Given the description of an element on the screen output the (x, y) to click on. 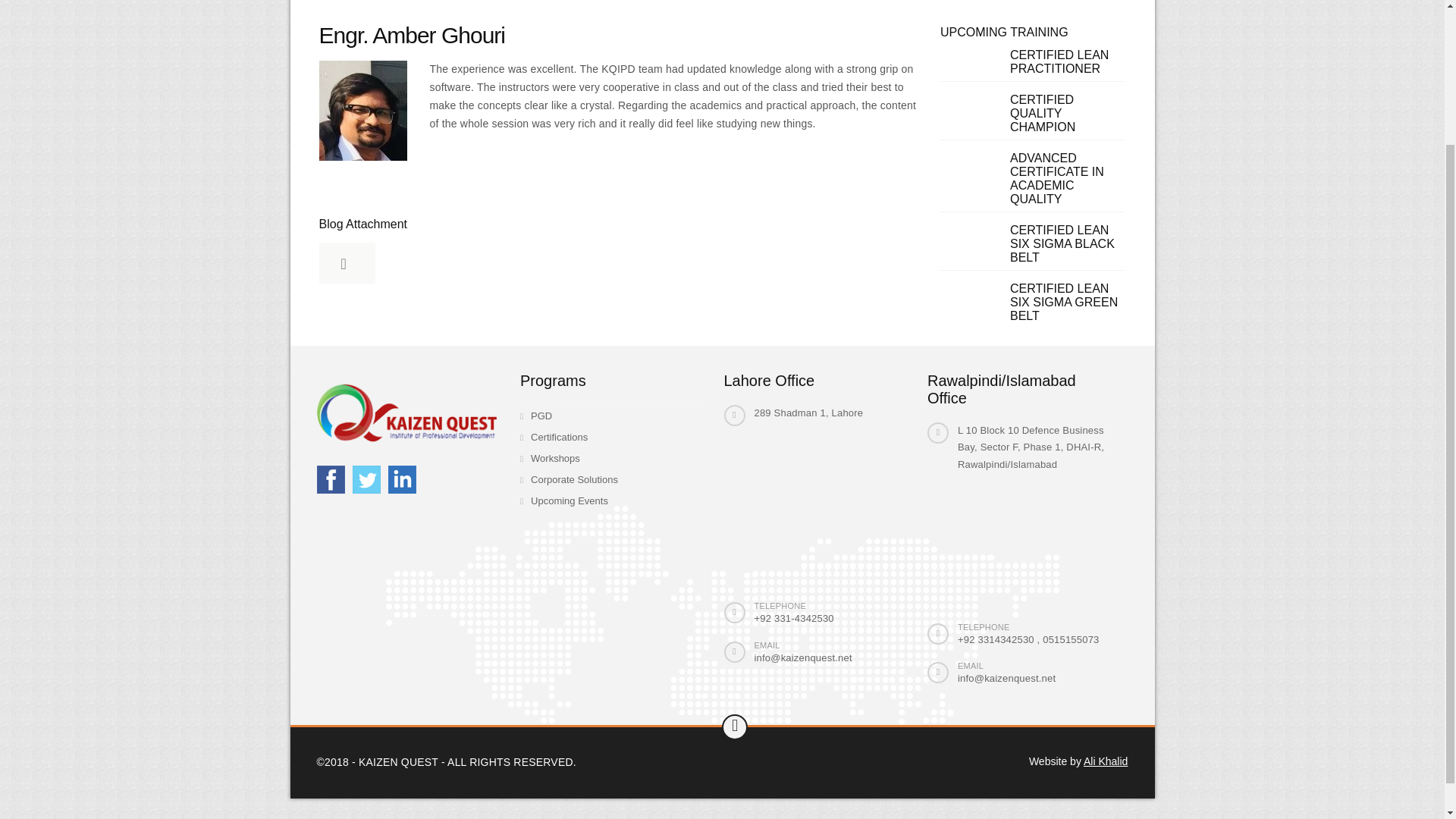
CERTIFIED LEAN PRACTITIONER (1059, 61)
ADVANCED CERTIFICATE IN ACADEMIC QUALITY (1056, 178)
CERTIFIED LEAN SIX SIGMA BLACK BELT (1062, 243)
CERTIFIED LEAN SIX SIGMA GREEN BELT (1064, 301)
CERTIFIED QUALITY CHAMPION (1042, 113)
